Given the description of an element on the screen output the (x, y) to click on. 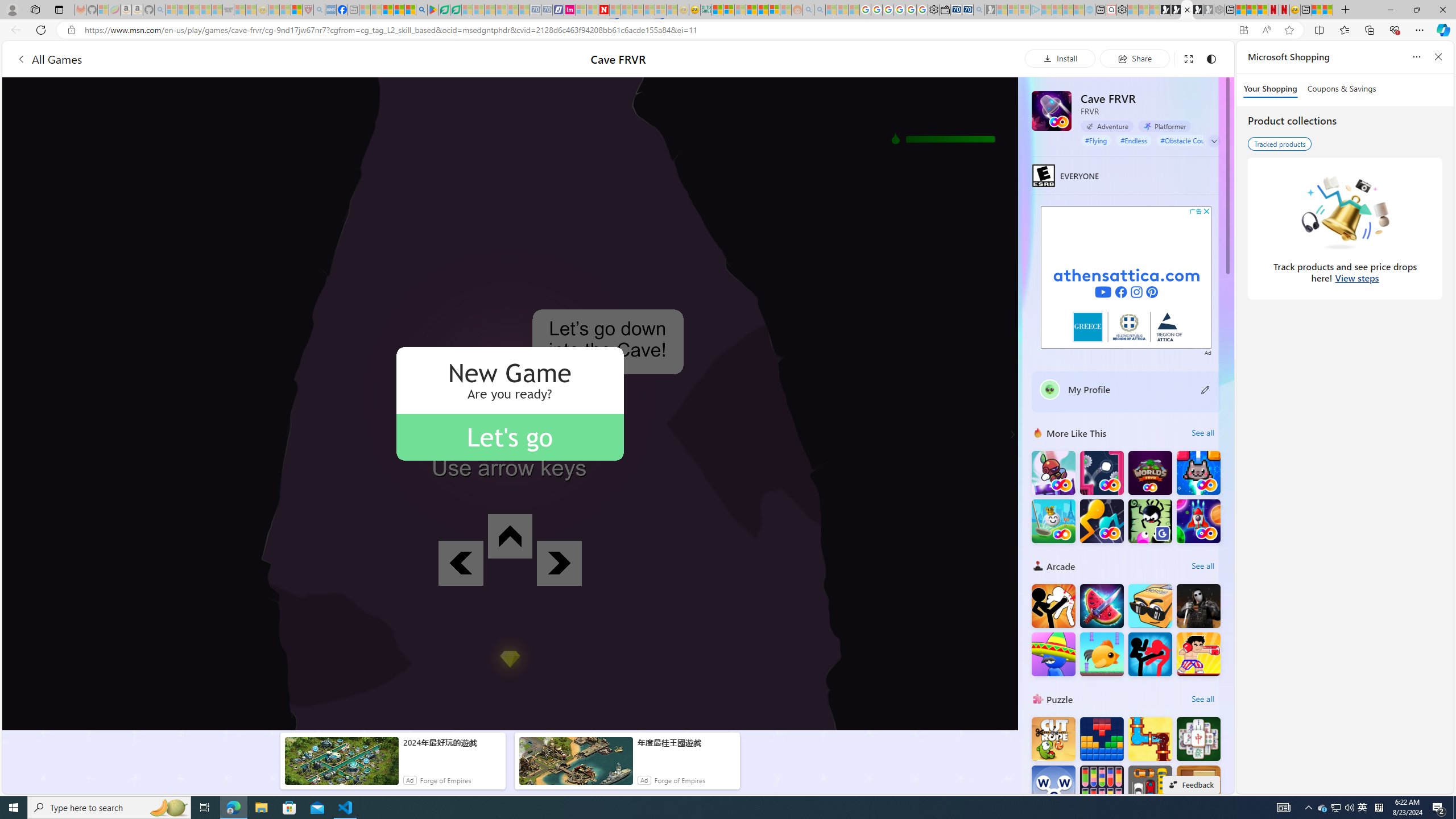
All Games (49, 58)
Platformer (1164, 125)
Puzzle (1037, 698)
Class: expand-arrow neutral (1214, 141)
Pets - MSN (398, 9)
EVERYONE (1043, 175)
Jobs - lastminute.com Investor Portal (569, 9)
Space Breaker FRVR (1198, 521)
